Given the description of an element on the screen output the (x, y) to click on. 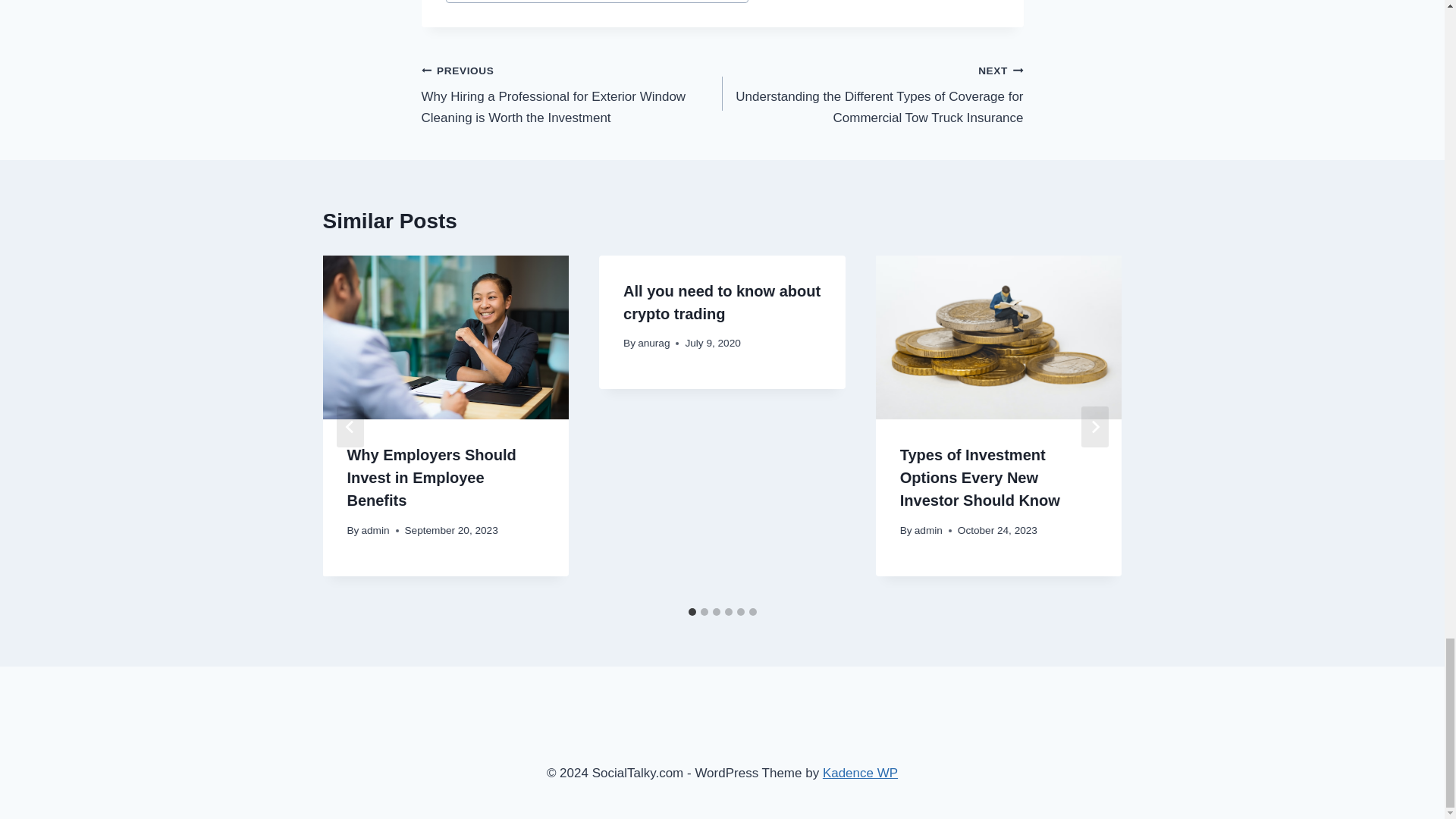
Common Pitfalls to Avoid in Investment Property Management (597, 2)
